Given the description of an element on the screen output the (x, y) to click on. 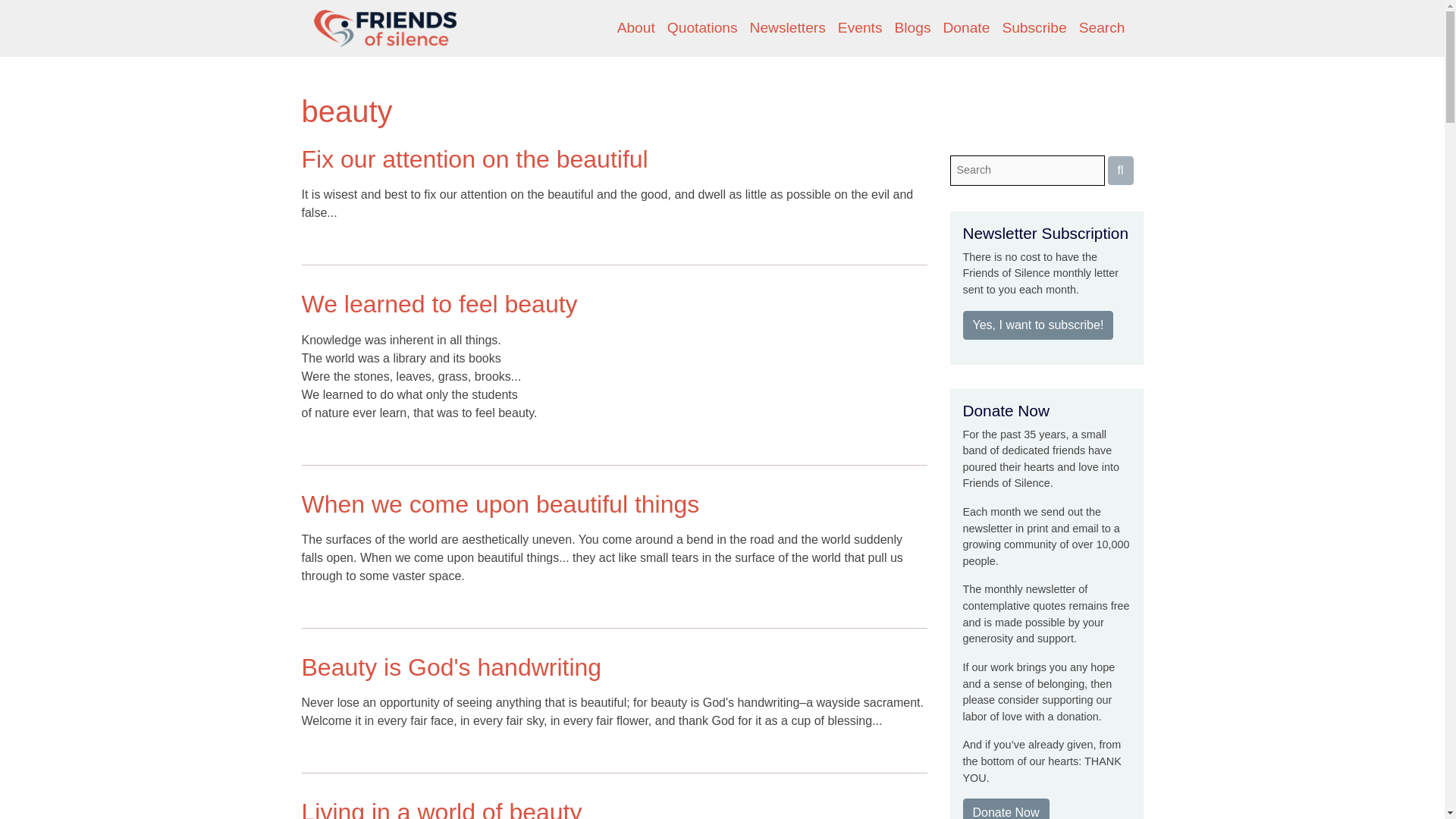
We learned to feel beauty (439, 303)
Events (859, 28)
Quotations (702, 28)
About (636, 28)
Blogs (912, 28)
Subscribe (1033, 28)
Newsletters (787, 28)
Beauty is God's handwriting (451, 666)
Enter the keywords you wish to search for. (1026, 170)
Living in a world of beauty (441, 808)
Fix our attention on the beautiful (474, 158)
Search (1102, 28)
When we come upon beautiful things (500, 503)
Donate (966, 28)
